Given the description of an element on the screen output the (x, y) to click on. 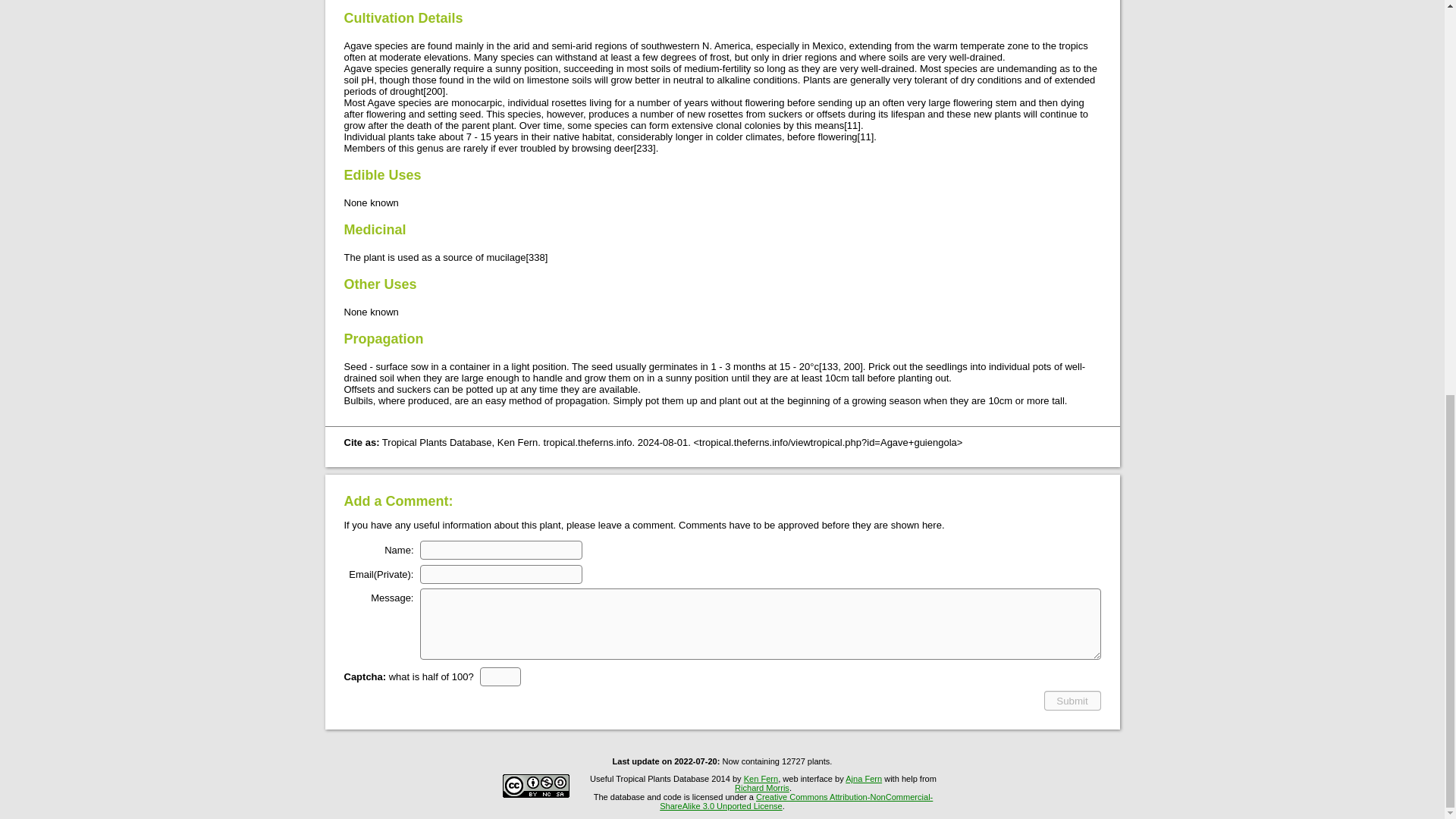
Ken Fern (760, 777)
200 (434, 91)
11 (852, 125)
Richard Morris (762, 787)
Submit (1071, 700)
11 (865, 136)
133 (830, 366)
200 (851, 366)
233 (644, 147)
Submit (1071, 700)
Ajna Fern (863, 777)
338 (536, 256)
